Given the description of an element on the screen output the (x, y) to click on. 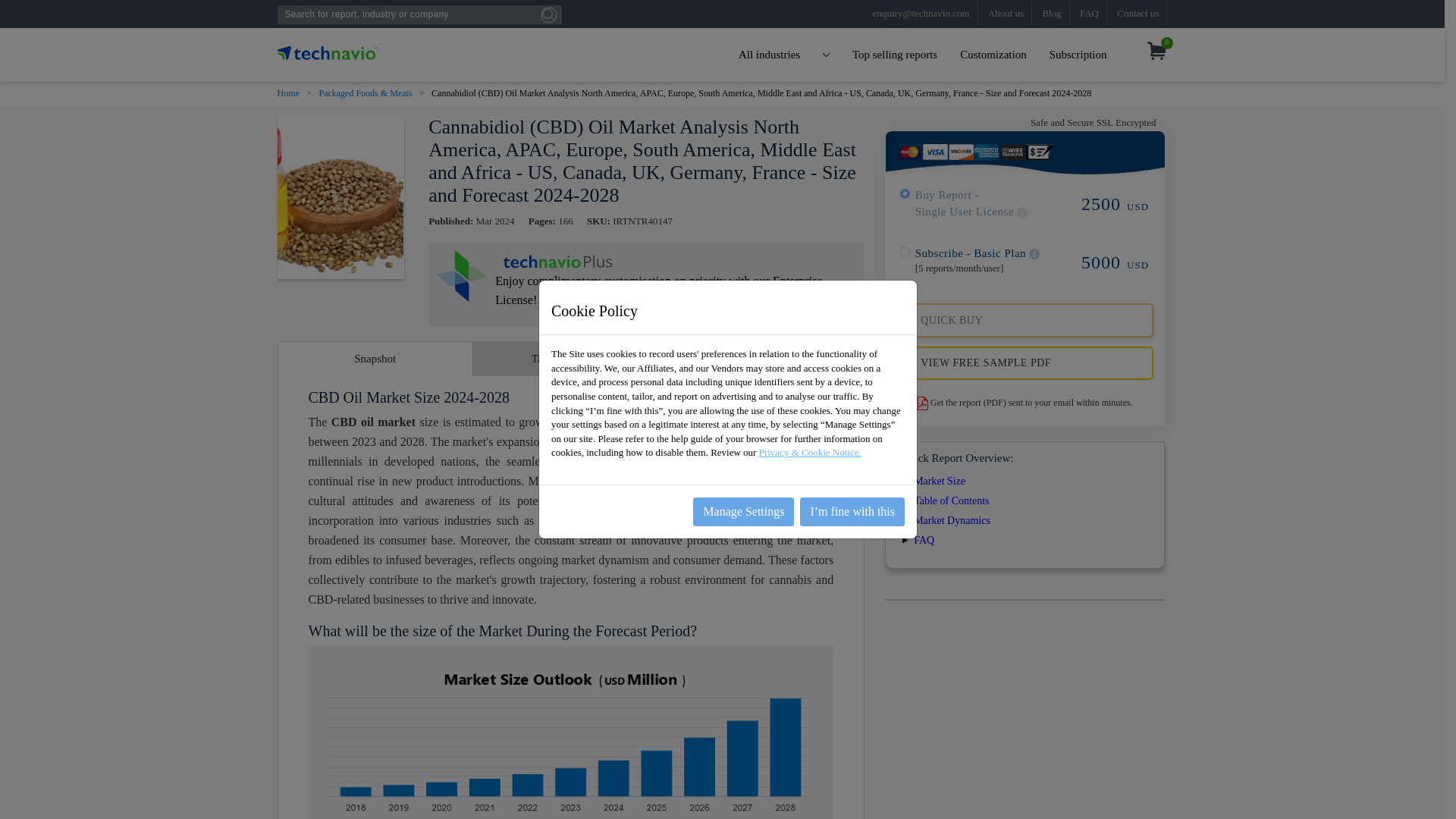
Subscription (1077, 54)
Contact us (1138, 12)
Blog (1050, 12)
298336 (904, 194)
All industries (783, 54)
Top selling reports (894, 54)
FAQ (1088, 12)
on (904, 252)
All industries (783, 54)
Customization (993, 54)
About us (1005, 12)
